Given the description of an element on the screen output the (x, y) to click on. 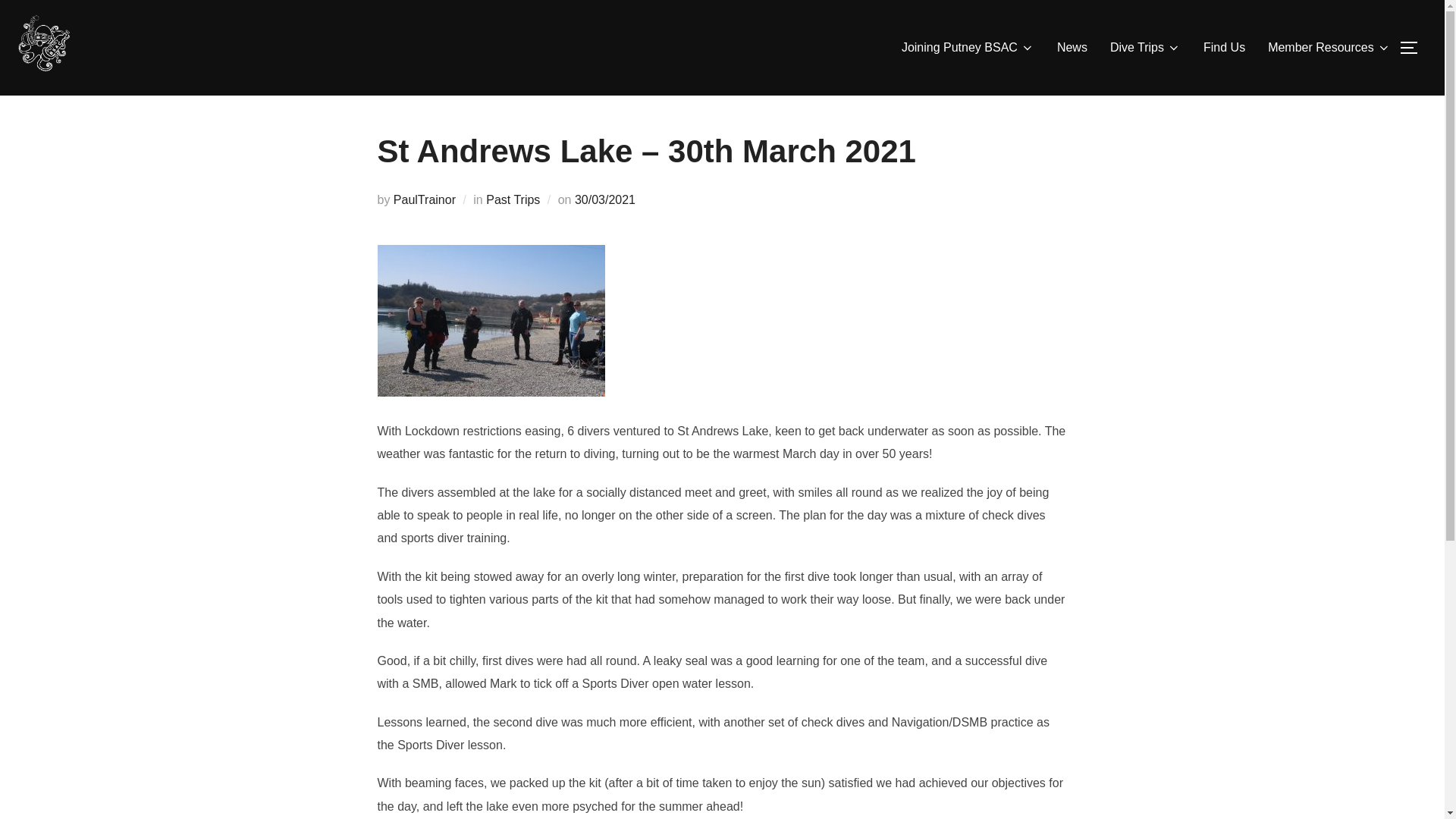
Find Us (1224, 47)
Dive Trips (1144, 47)
Member Resources (1329, 47)
Joining Putney BSAC (967, 47)
News (1072, 47)
